Given the description of an element on the screen output the (x, y) to click on. 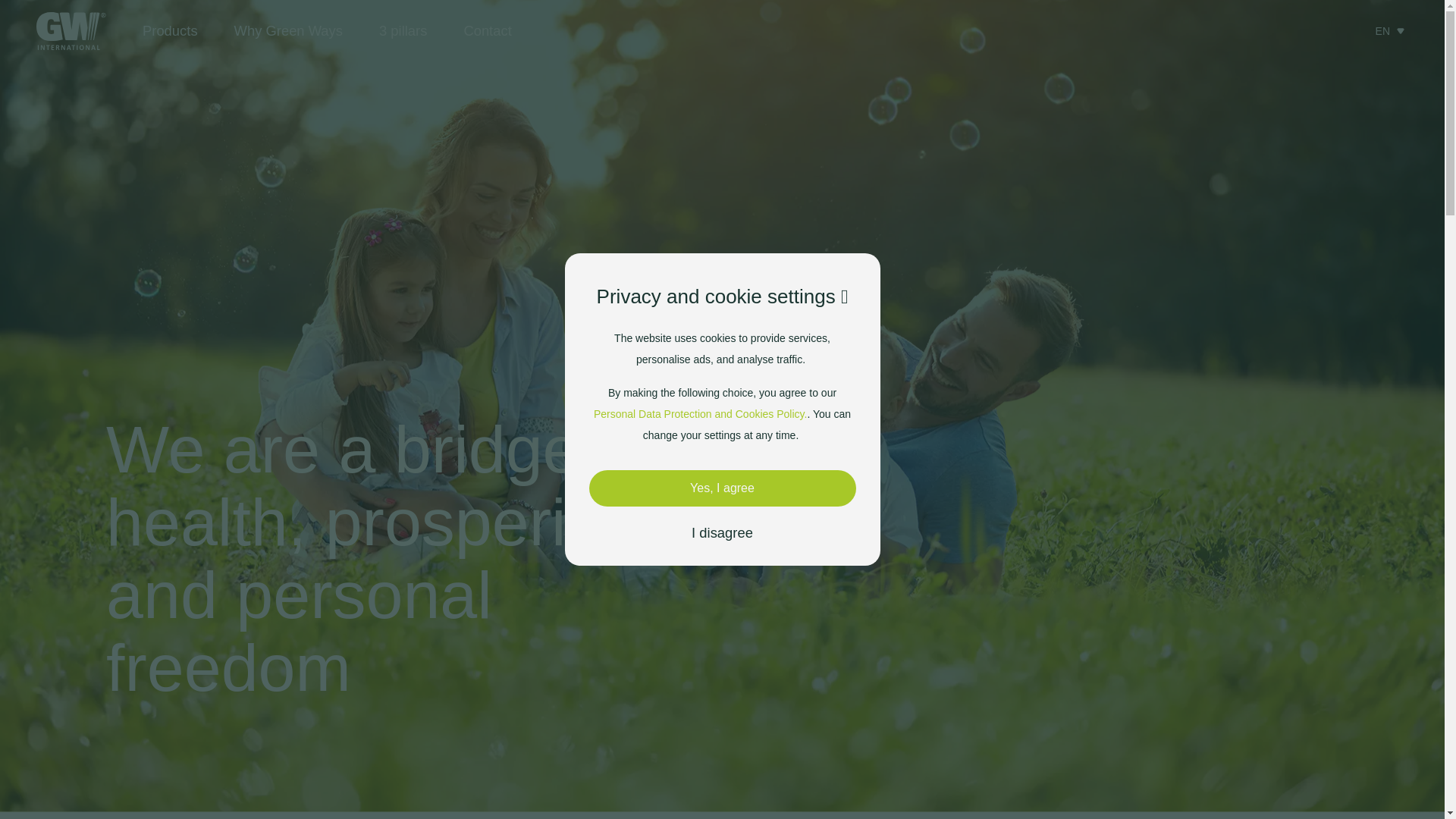
Green Ways (71, 30)
Personal Data Protection and Cookies Policy. (700, 413)
Products (170, 30)
Contact (487, 30)
EN (1391, 30)
3 pillars (402, 30)
Why Green Ways (288, 30)
3 pillars (402, 30)
I disagree (721, 532)
Contact (487, 30)
Yes, I agree (722, 488)
Why Green Ways (288, 30)
Products (170, 30)
